Given the description of an element on the screen output the (x, y) to click on. 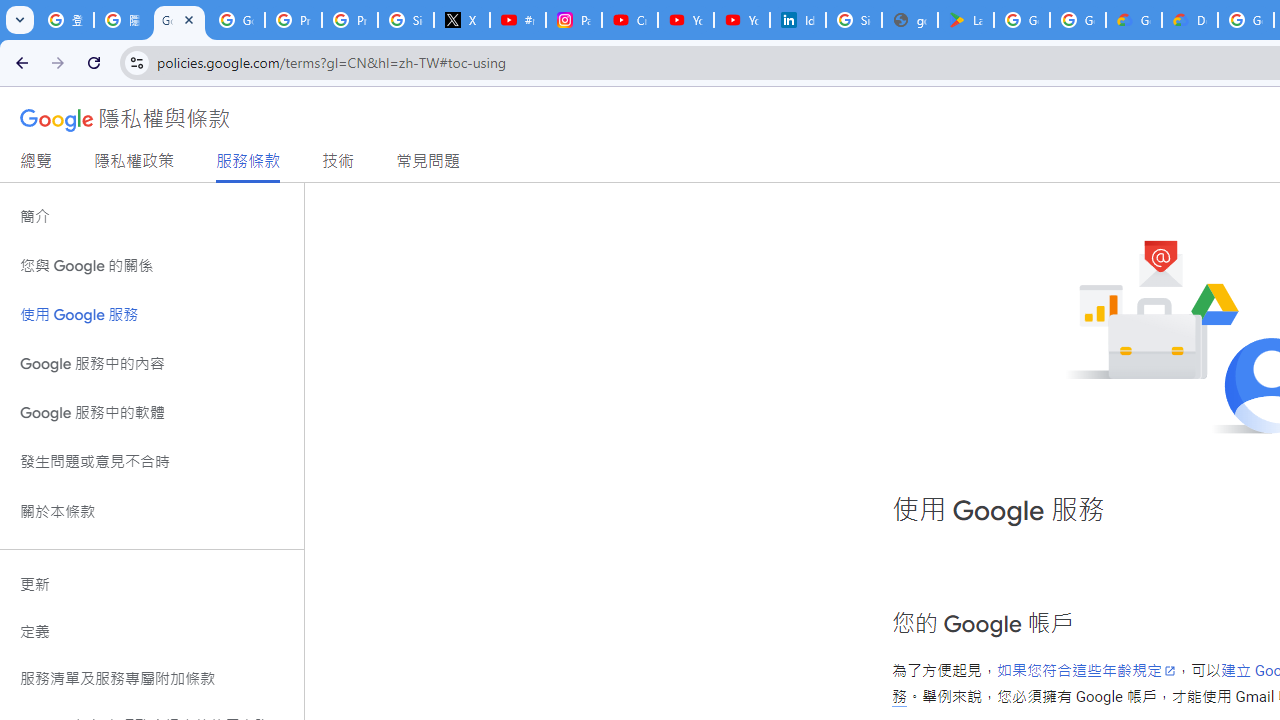
X (461, 20)
#nbabasketballhighlights - YouTube (518, 20)
